Given the description of an element on the screen output the (x, y) to click on. 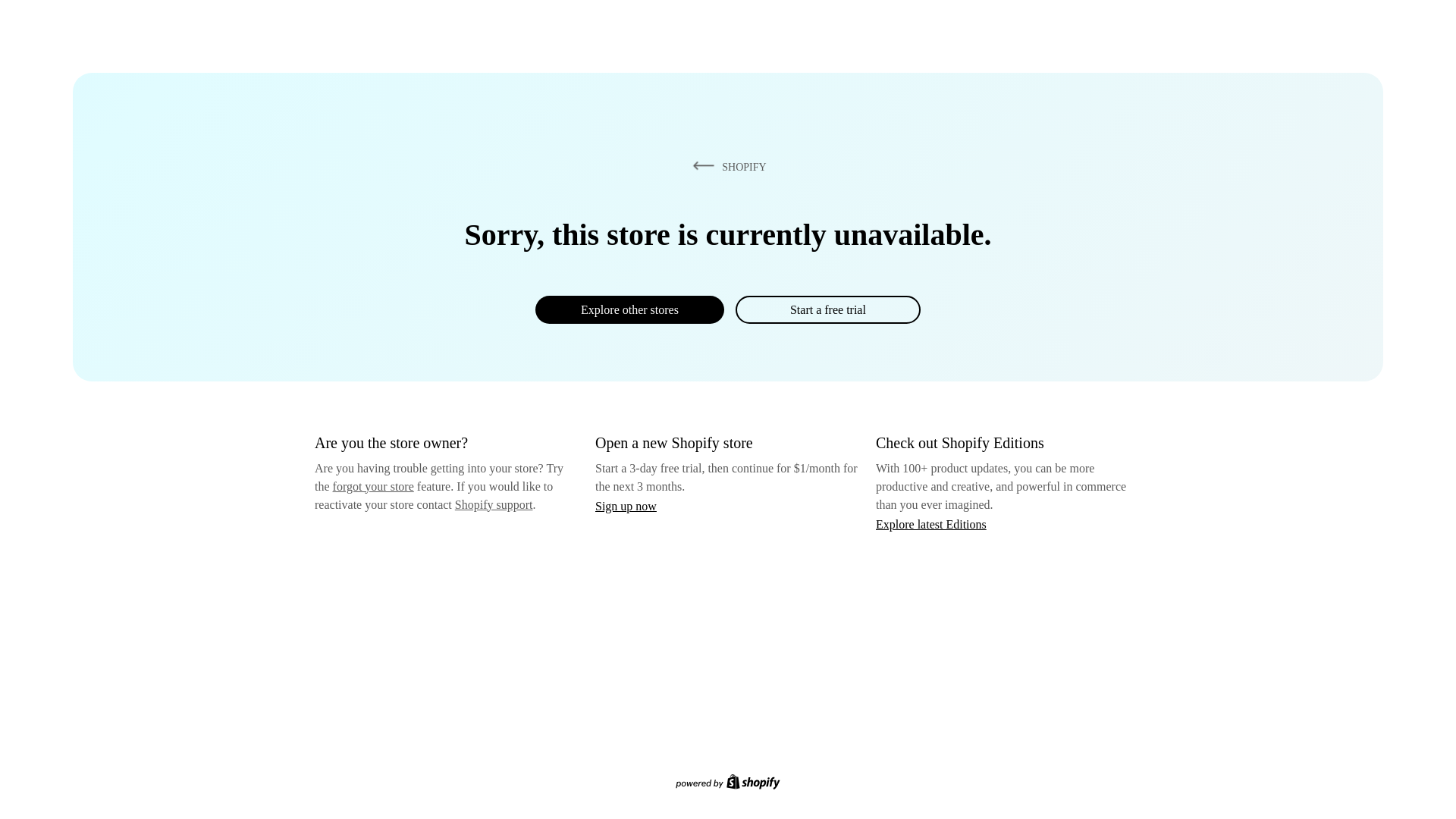
SHOPIFY (726, 166)
Start a free trial (827, 309)
Sign up now (625, 505)
forgot your store (373, 486)
Explore other stores (629, 309)
Explore latest Editions (931, 523)
Shopify support (493, 504)
